Given the description of an element on the screen output the (x, y) to click on. 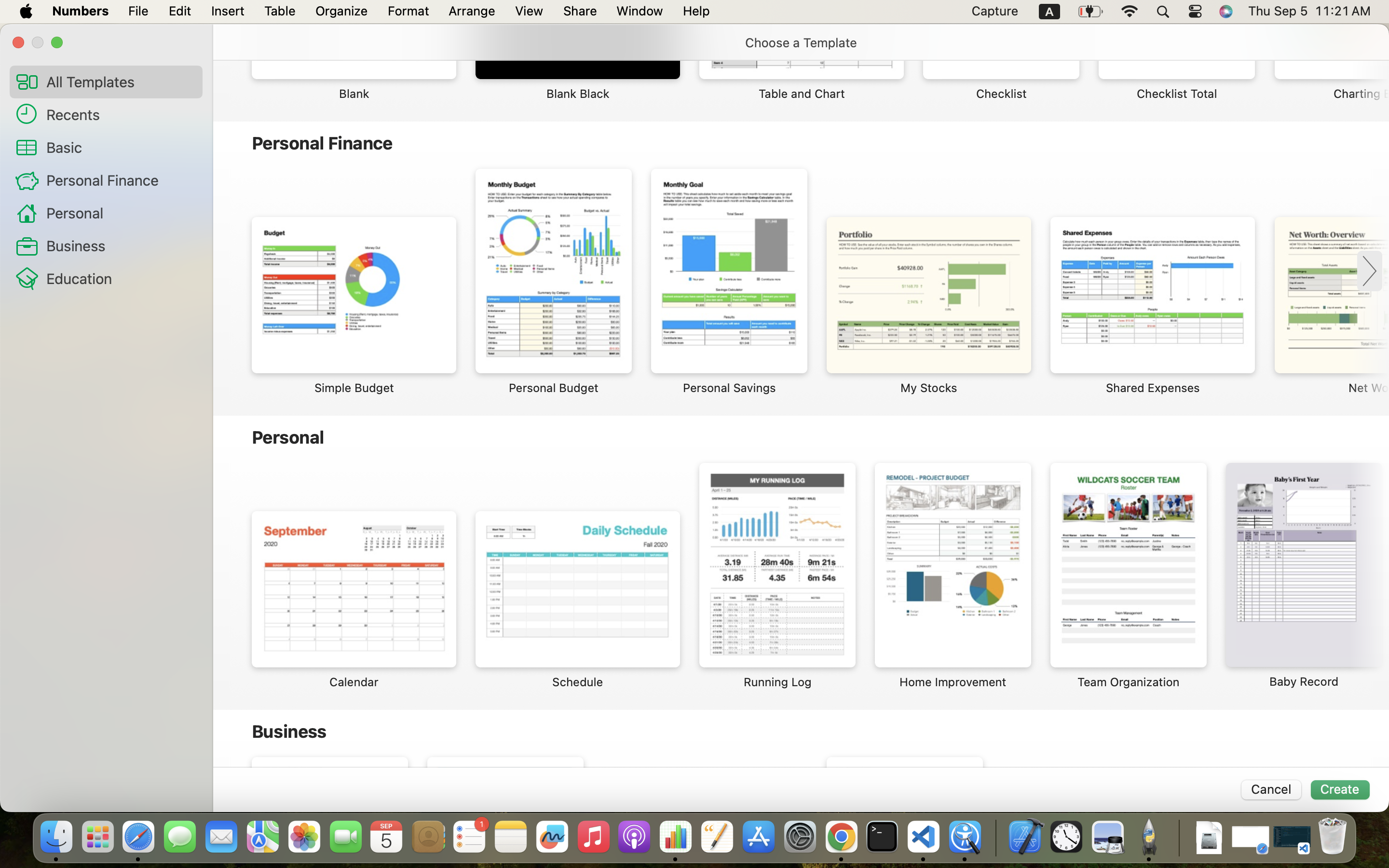
Choose a Template Element type: AXStaticText (800, 42)
Personal Finance Element type: AXStaticText (120, 179)
Business Element type: AXStaticText (120, 245)
All Templates Element type: AXStaticText (120, 81)
